Given the description of an element on the screen output the (x, y) to click on. 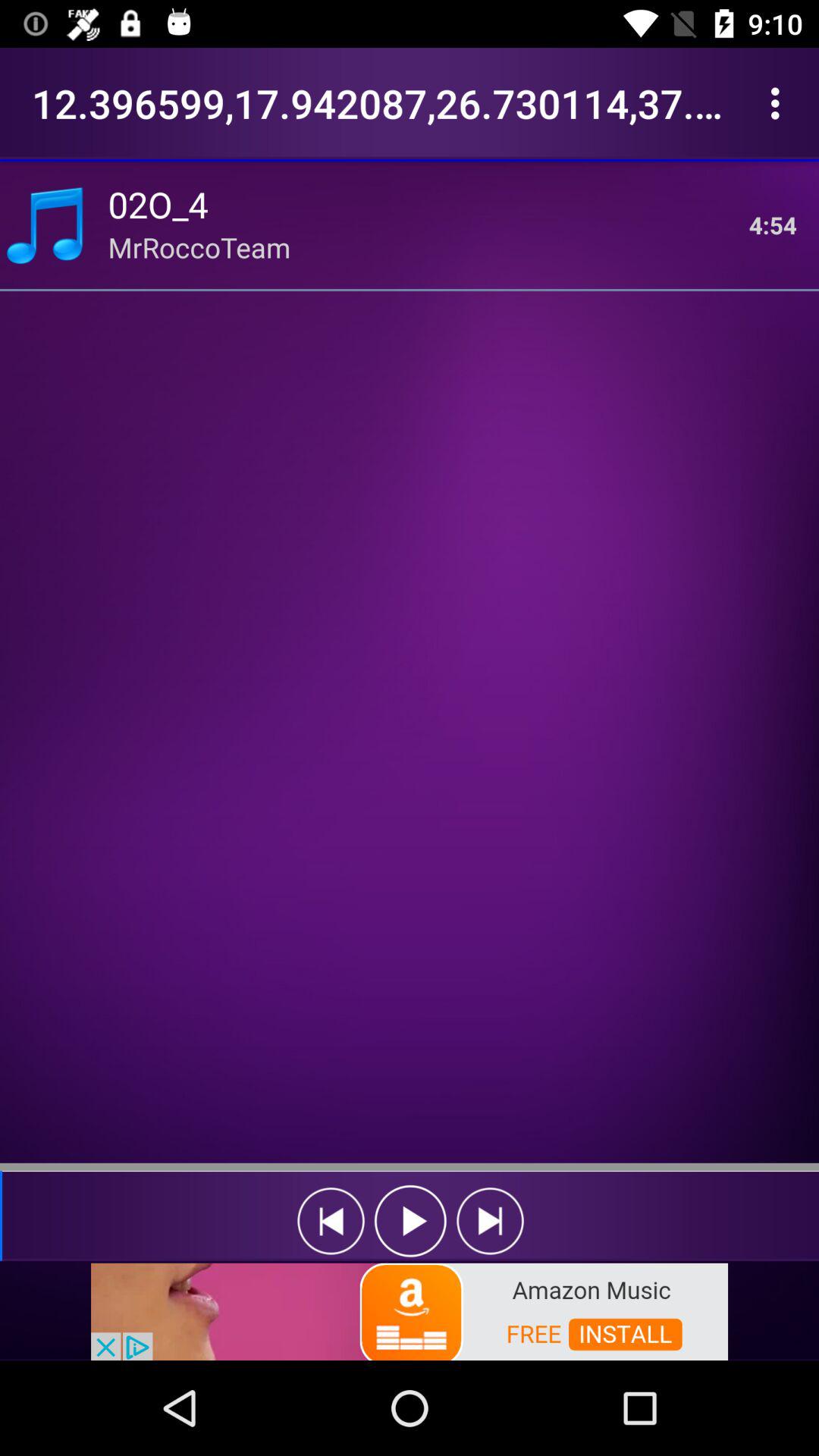
play the song (410, 1220)
